Given the description of an element on the screen output the (x, y) to click on. 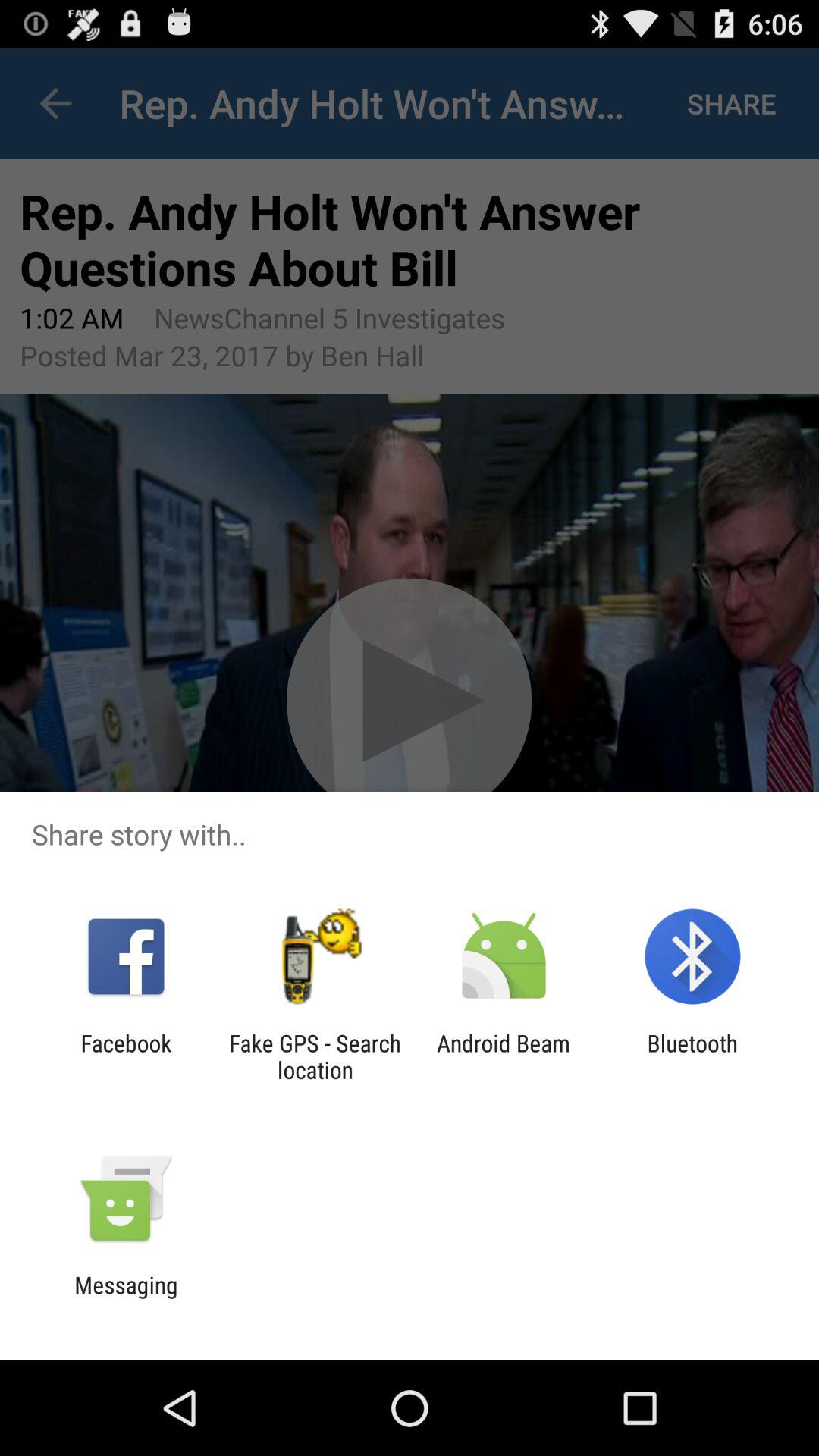
open item next to the android beam app (314, 1056)
